Given the description of an element on the screen output the (x, y) to click on. 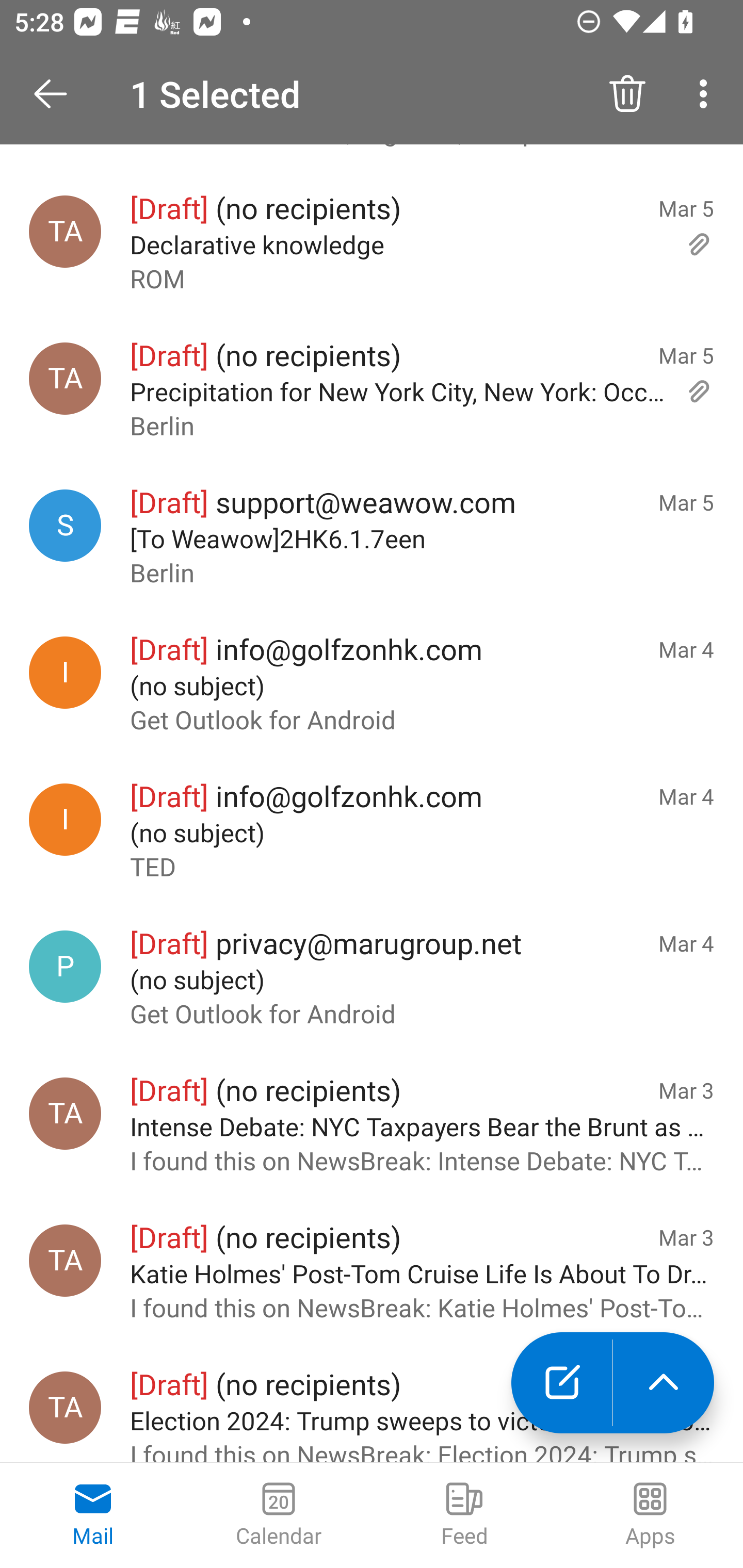
Delete (626, 93)
More options (706, 93)
Open Navigation Drawer (57, 94)
Test Appium, testappium002@outlook.com (64, 232)
Test Appium, testappium002@outlook.com (64, 377)
support@weawow.com (64, 525)
info@golfzonhk.com (64, 672)
info@golfzonhk.com (64, 820)
privacy@marugroup.net (64, 965)
Test Appium, testappium002@outlook.com (64, 1113)
Test Appium, testappium002@outlook.com (64, 1260)
New mail (561, 1382)
launch the extended action menu (663, 1382)
Test Appium, testappium002@outlook.com (64, 1408)
Calendar (278, 1515)
Feed (464, 1515)
Apps (650, 1515)
